Given the description of an element on the screen output the (x, y) to click on. 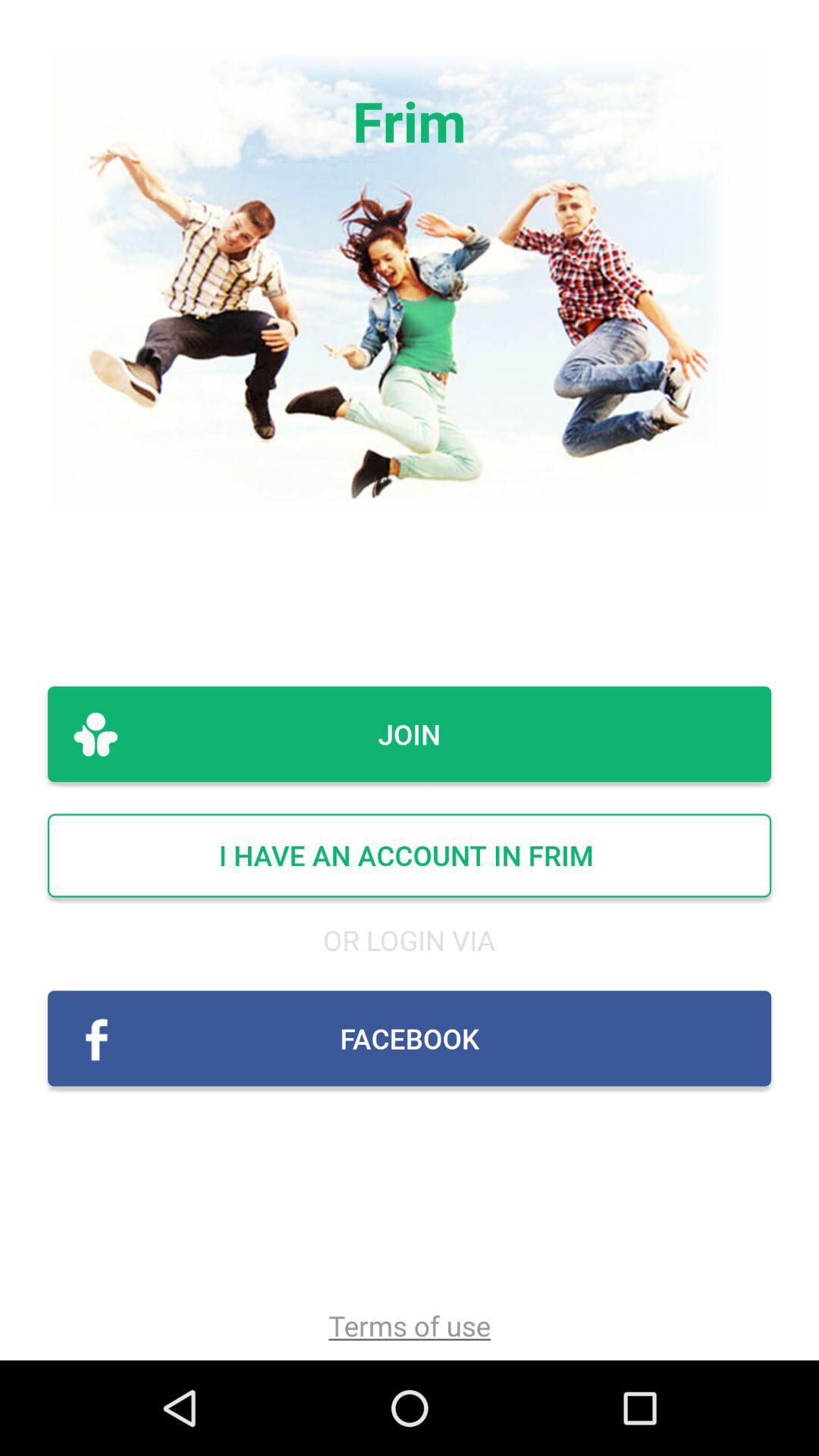
choose join (409, 734)
